Given the description of an element on the screen output the (x, y) to click on. 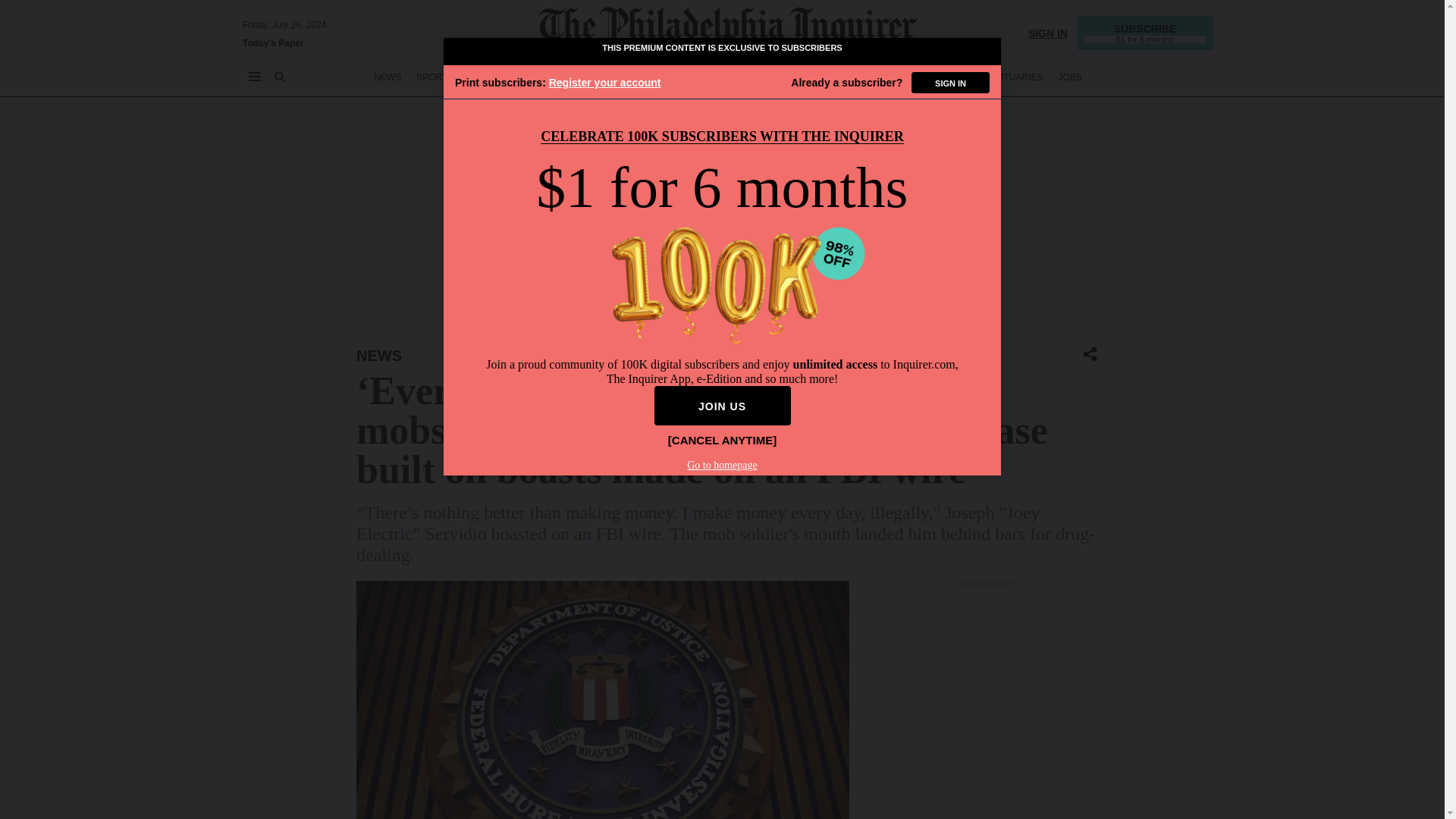
BETTING (488, 77)
OBITUARIES (1015, 77)
SIGN IN (1047, 32)
Share Icon (1090, 353)
OPINION (604, 77)
REAL ESTATE (942, 77)
3rd party ad content (985, 704)
Share Icon (1090, 354)
News (378, 355)
BUSINESS (545, 77)
LIFE (795, 77)
NEWS (387, 77)
SPORTS (434, 77)
SUBSCRIBE (1144, 32)
ENTERTAINMENT (732, 77)
